Given the description of an element on the screen output the (x, y) to click on. 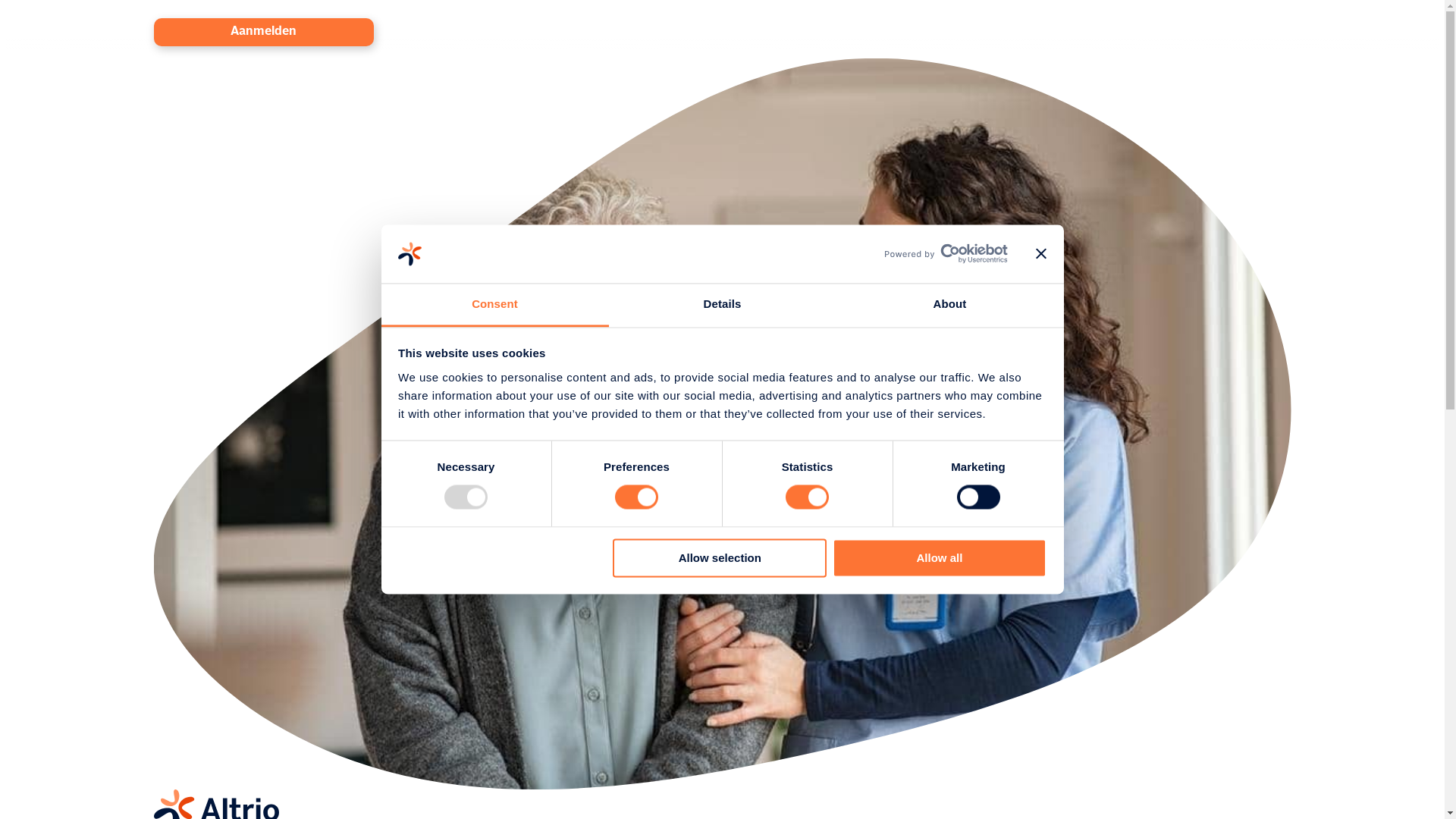
Allow selection Element type: text (719, 557)
Allow all Element type: text (939, 557)
Consent Element type: text (494, 304)
Aanmelden Element type: text (263, 32)
Details Element type: text (721, 304)
About Element type: text (949, 304)
